Given the description of an element on the screen output the (x, y) to click on. 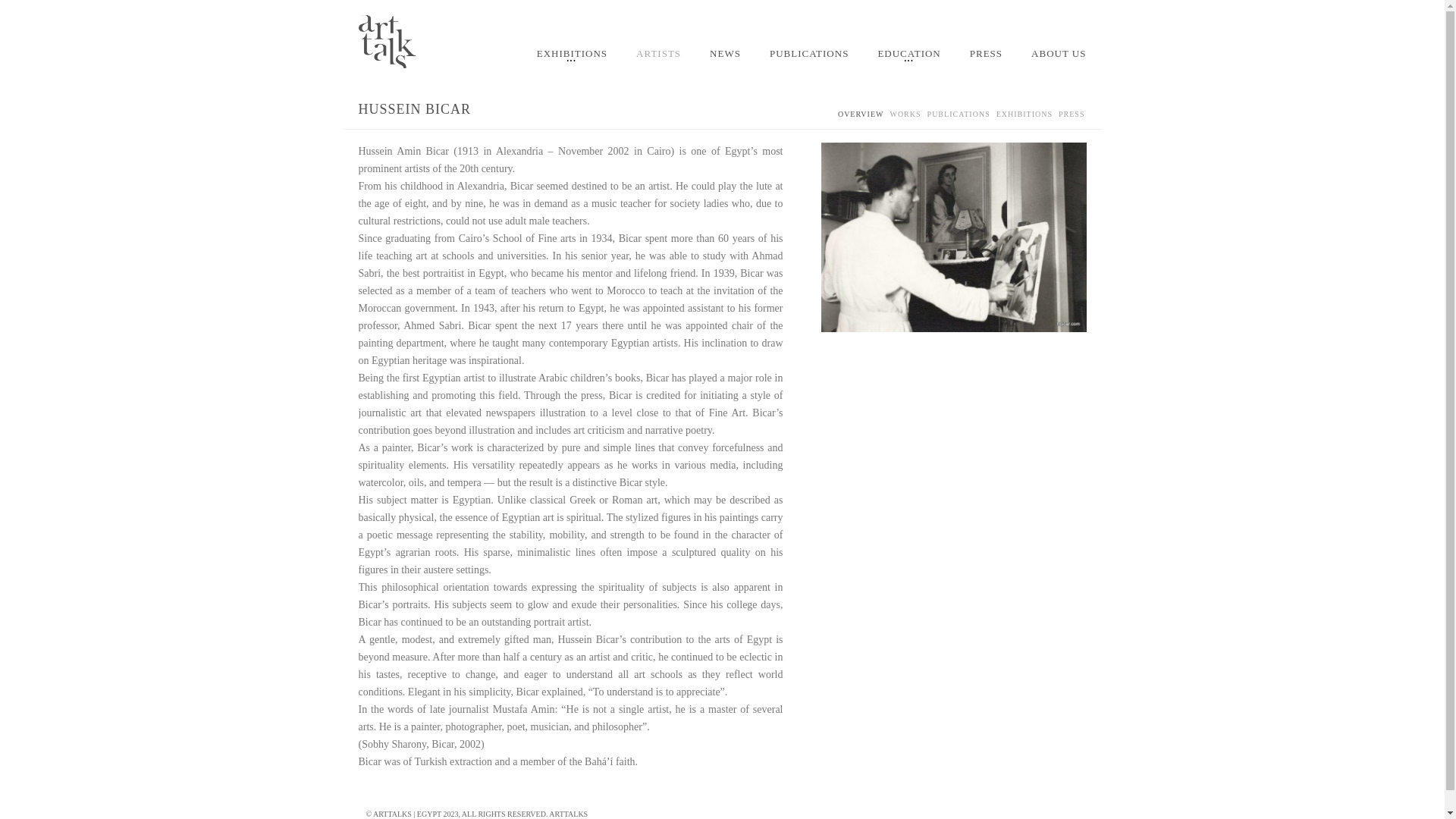
EXHIBITIONS (571, 57)
EDUCATION (908, 57)
OVERVIEW (860, 117)
PUBLICATIONS (958, 117)
PUBLICATIONS (808, 57)
NEWS (725, 57)
ABOUT US (1056, 57)
EXHIBITIONS (1023, 117)
WORKS (904, 117)
PRESS (1071, 117)
PRESS (986, 57)
ARTTALKS (568, 814)
ARTISTS (657, 57)
